Given the description of an element on the screen output the (x, y) to click on. 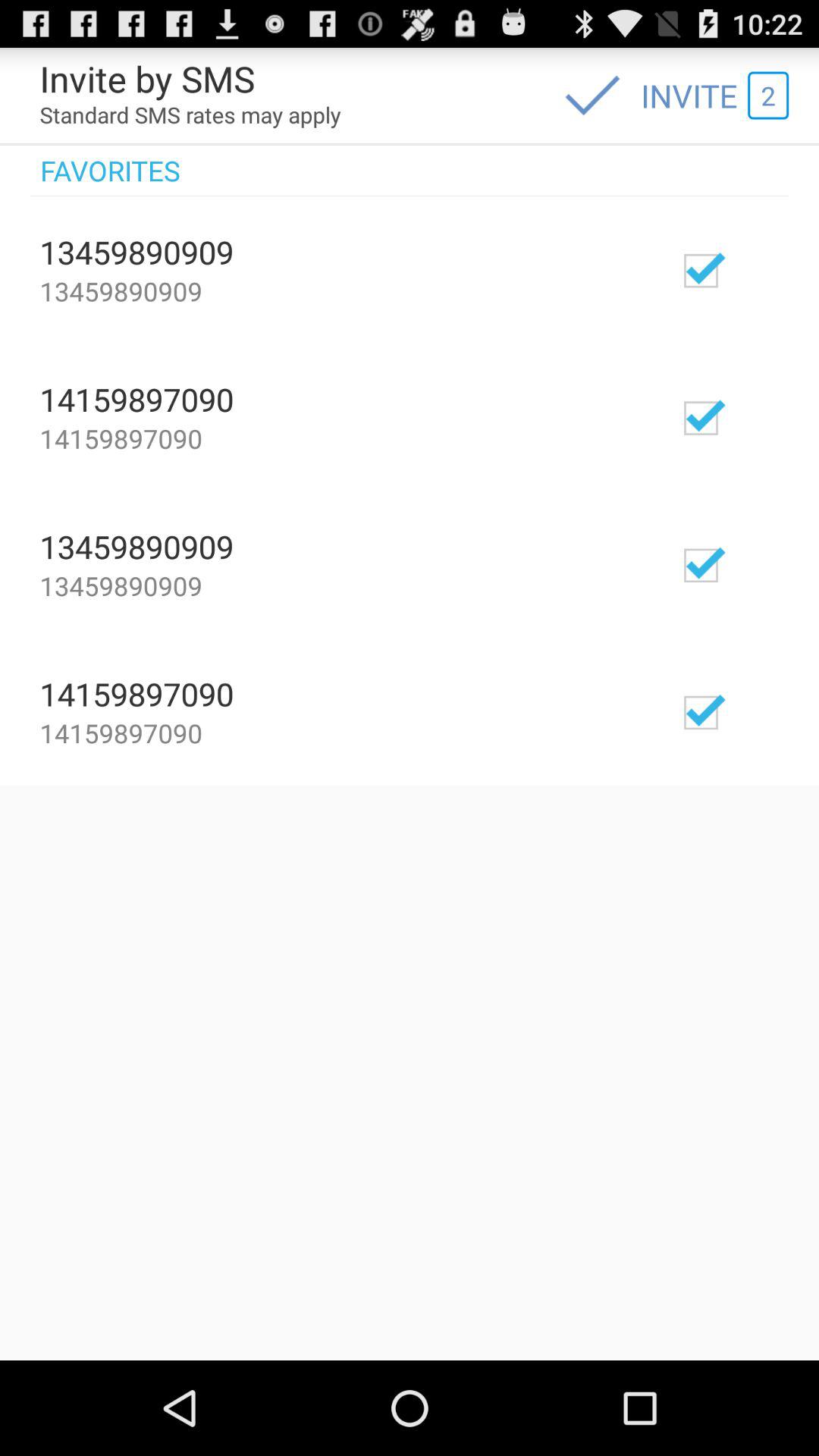
unfavorite selection (745, 269)
